Given the description of an element on the screen output the (x, y) to click on. 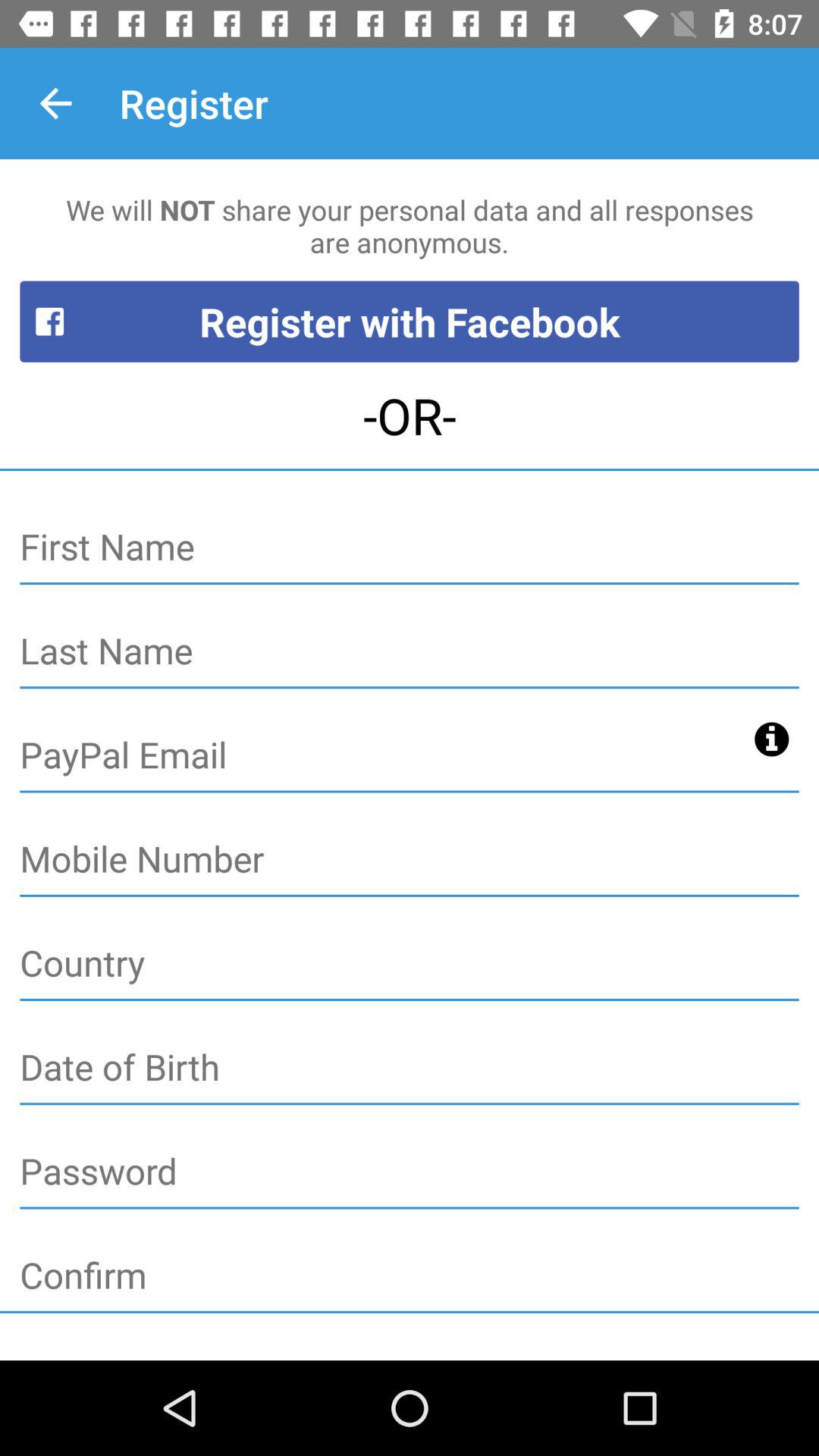
enter paypal information (381, 755)
